Given the description of an element on the screen output the (x, y) to click on. 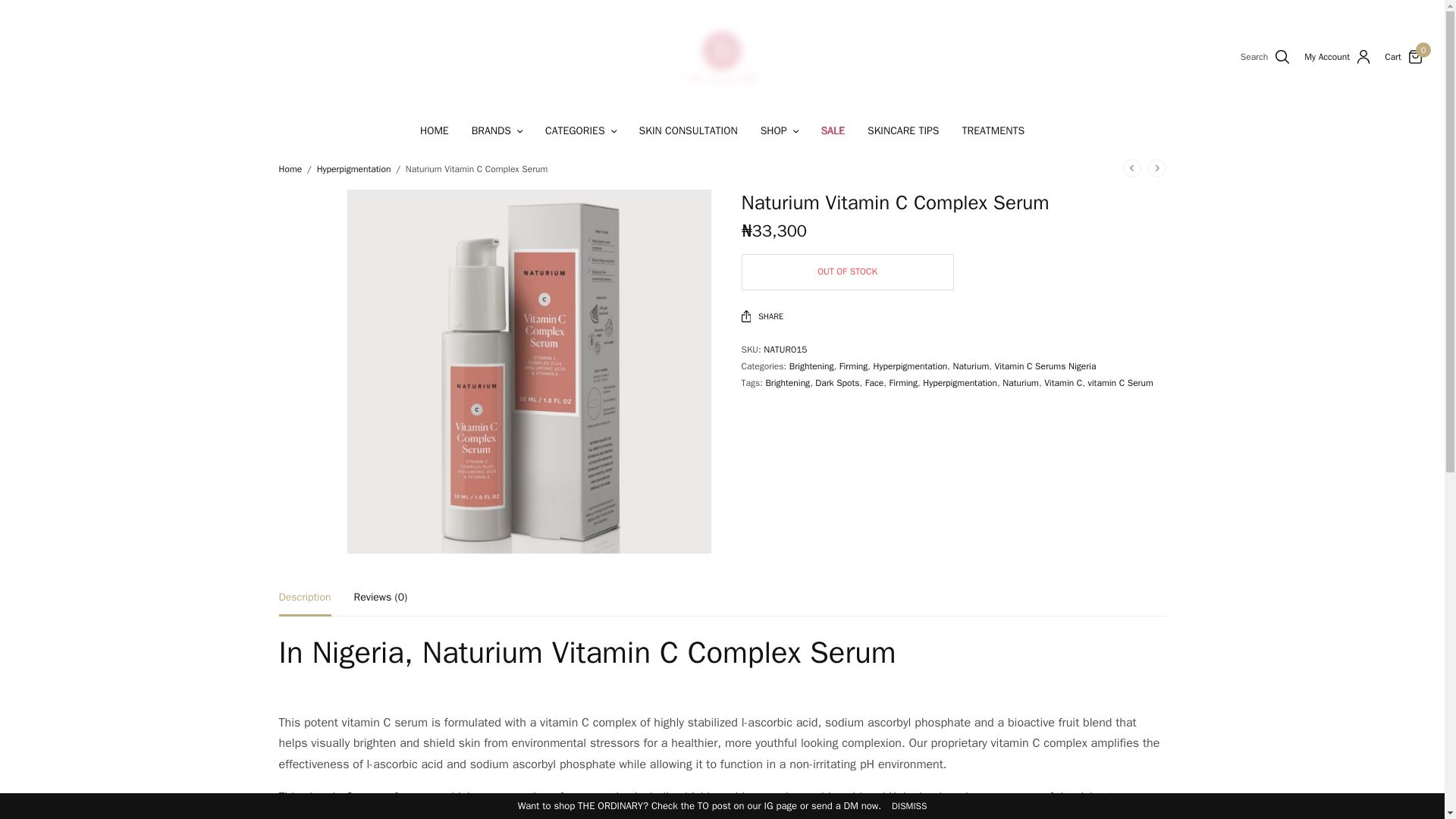
My Account (1337, 56)
MYSKINCAREMALL (722, 56)
Search (1260, 105)
Cart (1392, 56)
HOME (434, 130)
My Account (1337, 56)
BRANDS (496, 130)
